Given the description of an element on the screen output the (x, y) to click on. 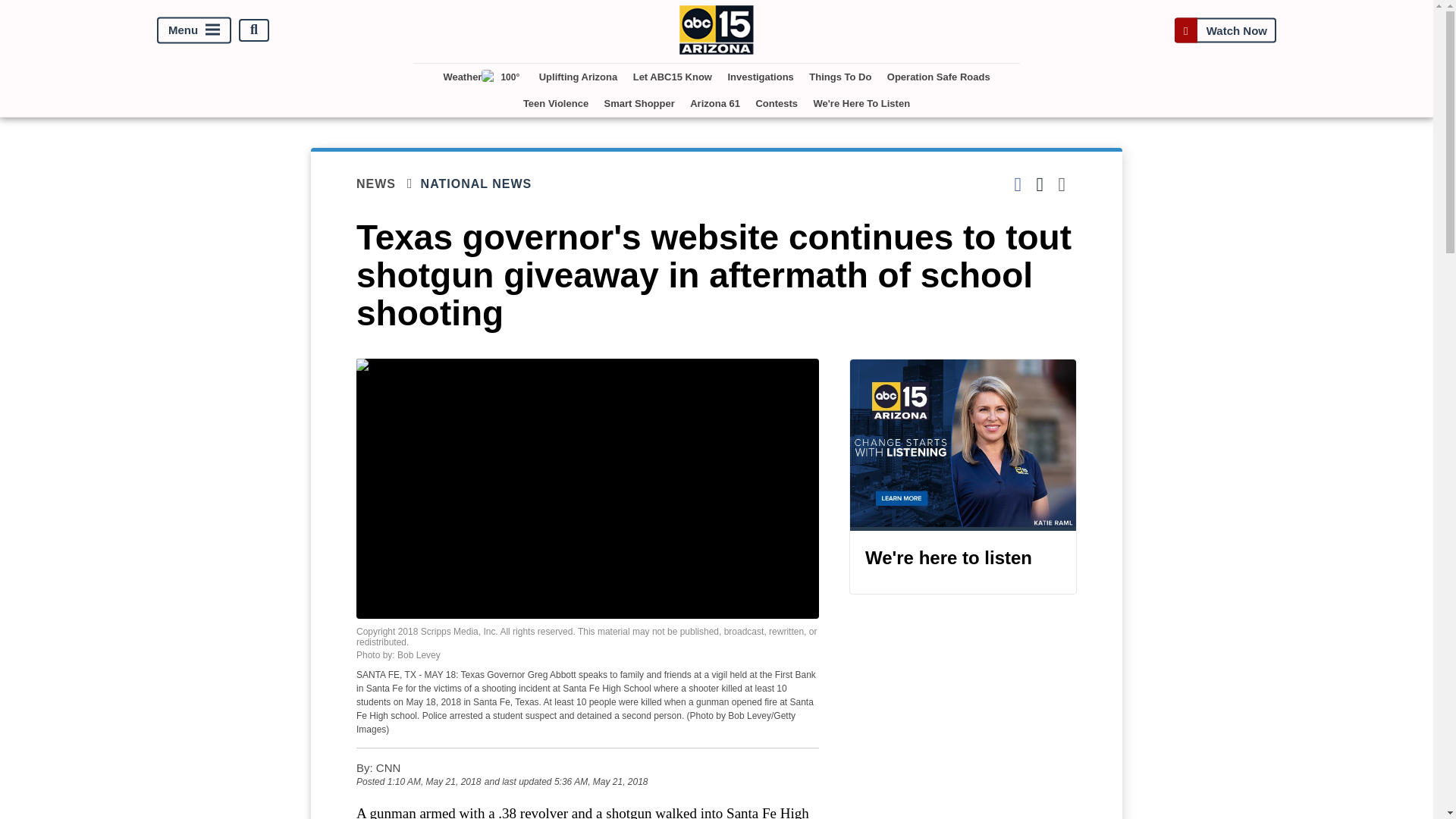
Watch Now (1224, 29)
Menu (194, 29)
